Given the description of an element on the screen output the (x, y) to click on. 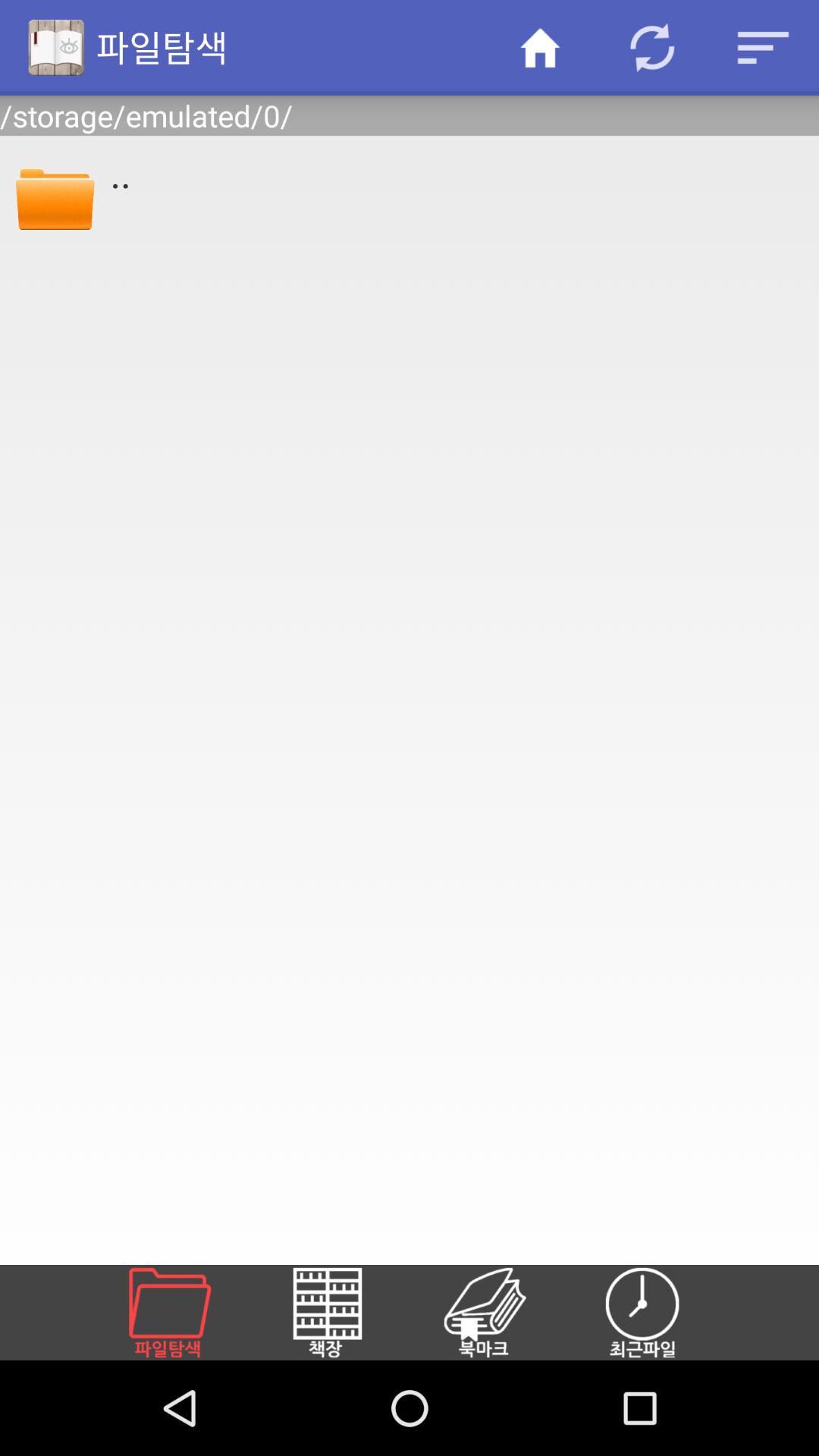
tap icon at the bottom left corner (187, 1312)
